Given the description of an element on the screen output the (x, y) to click on. 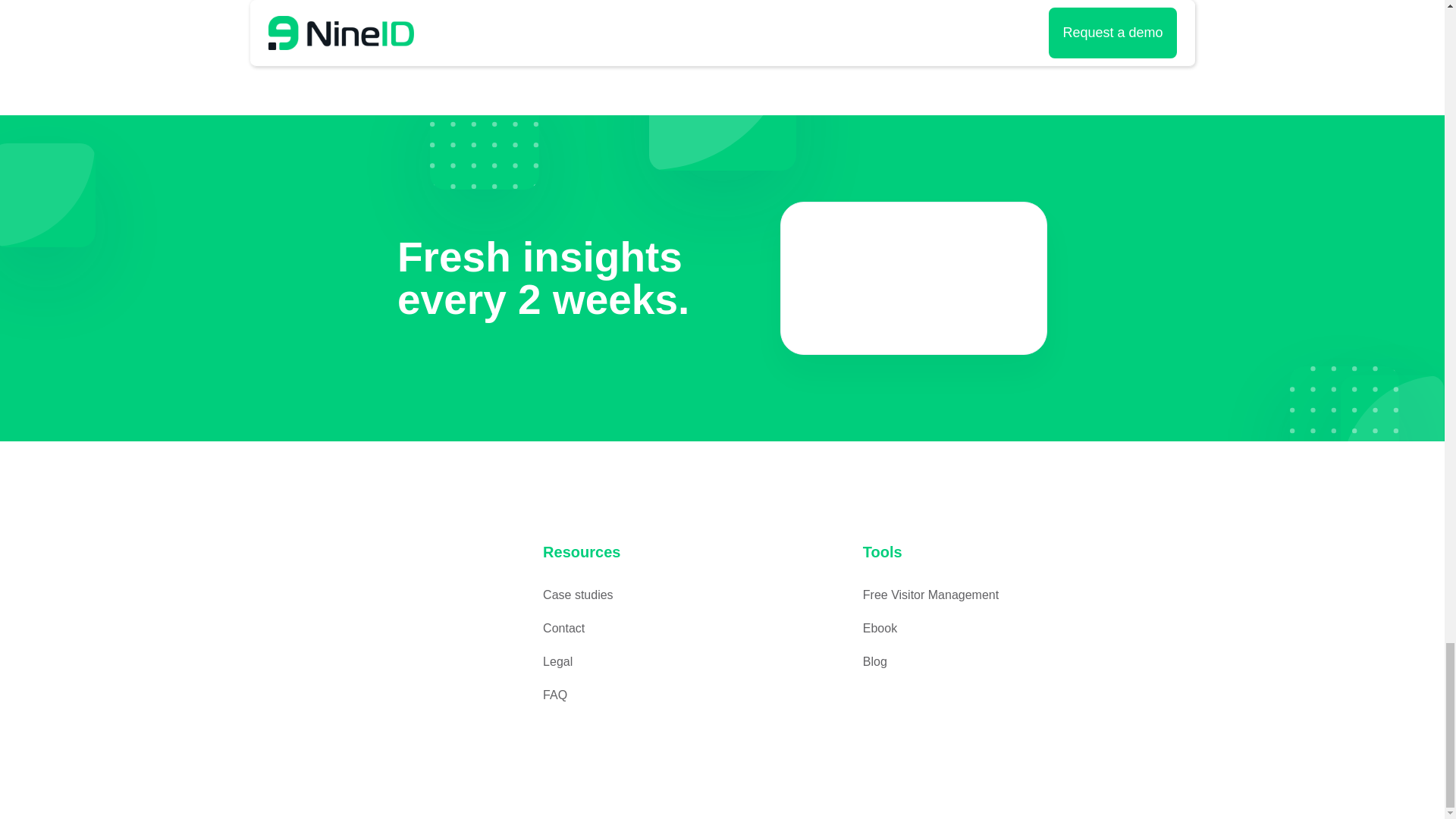
Form 0 (913, 277)
Form 1 (387, 594)
Case studies (577, 595)
